Given the description of an element on the screen output the (x, y) to click on. 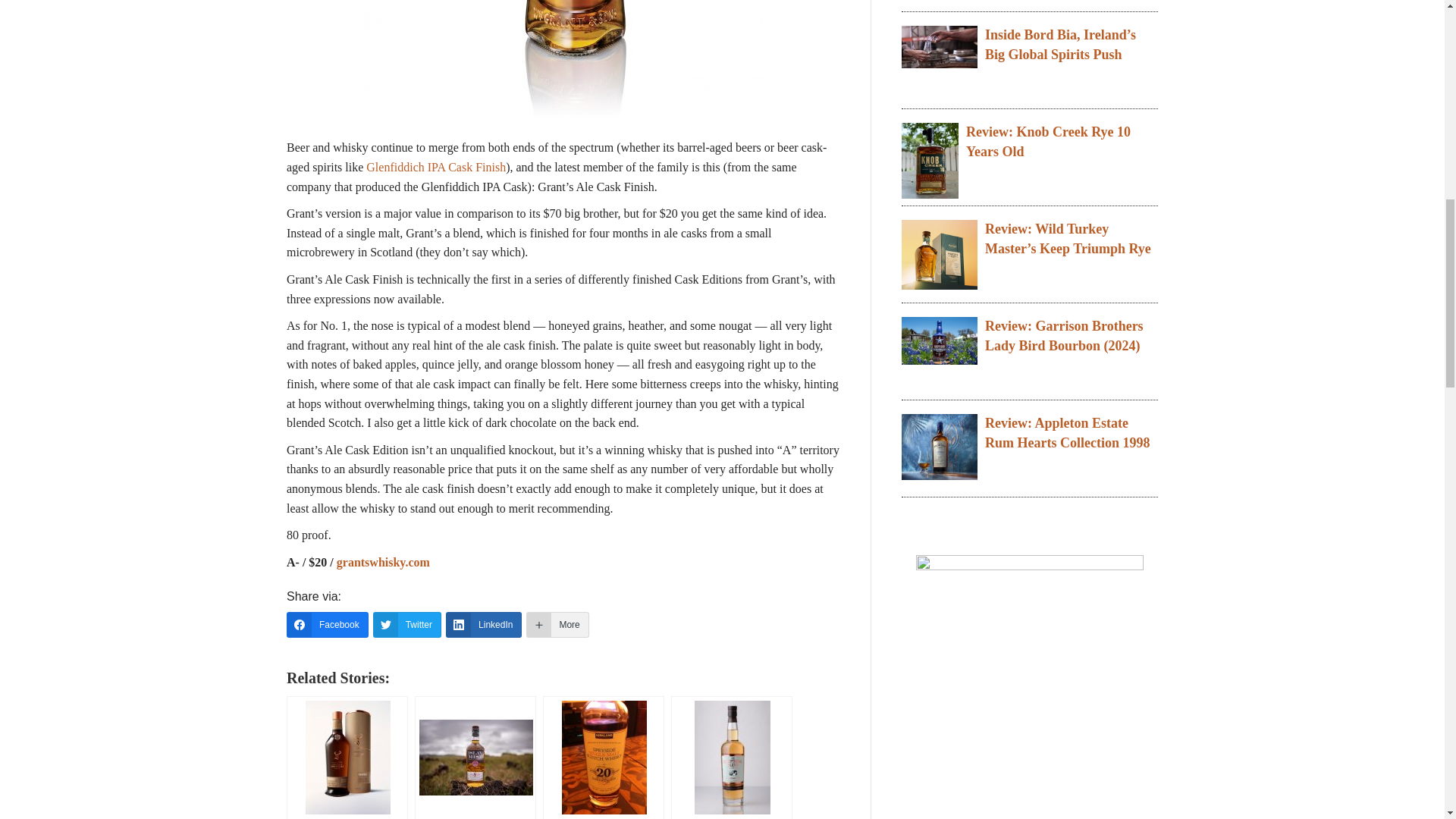
Review: Glenfiddich IPA Cask Finish (346, 757)
Review: Islay Mist Blended Scotch 8 Years Old (474, 757)
